Given the description of an element on the screen output the (x, y) to click on. 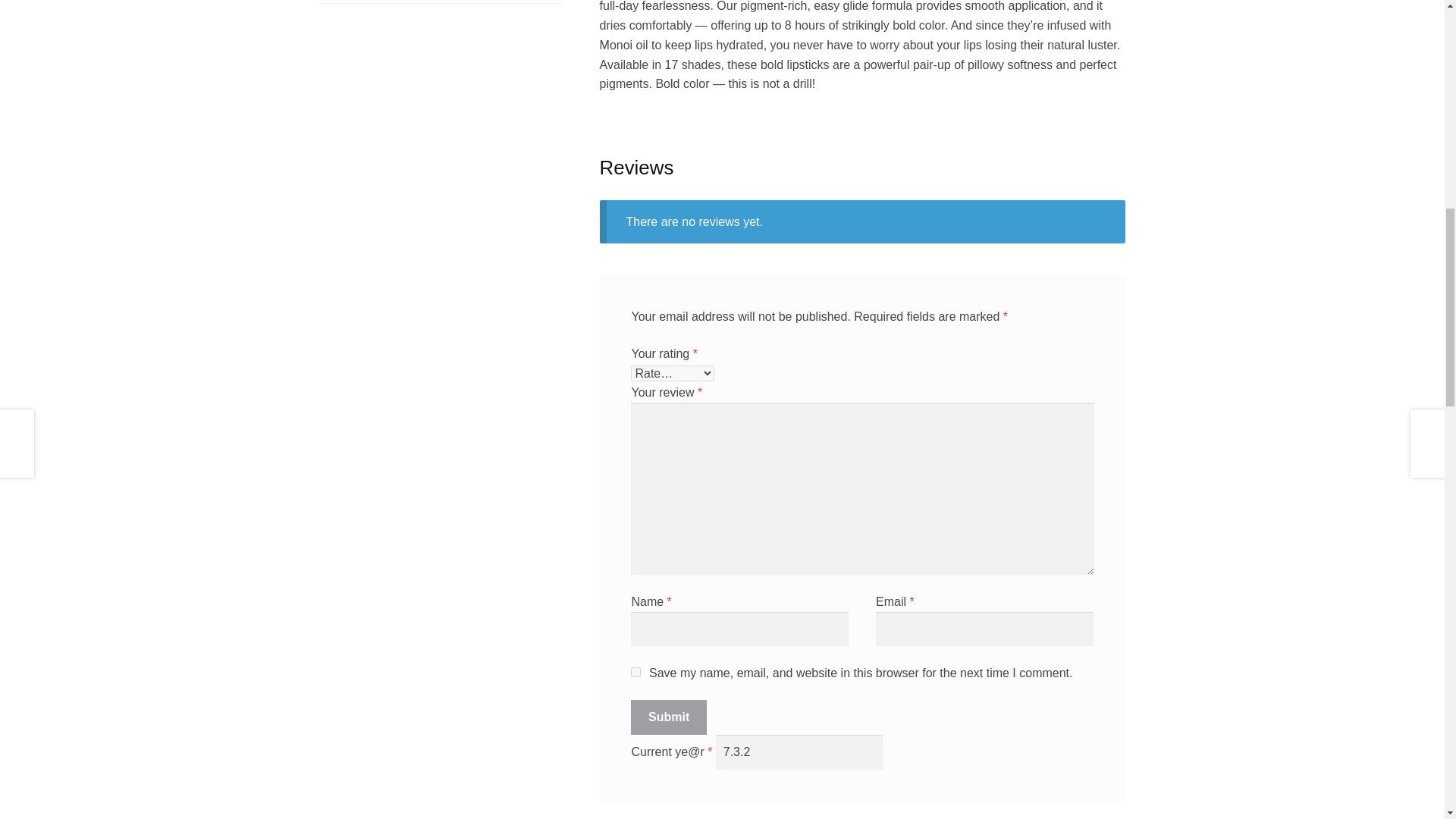
yes (635, 672)
Submit (668, 717)
7.3.2 (799, 751)
